Given the description of an element on the screen output the (x, y) to click on. 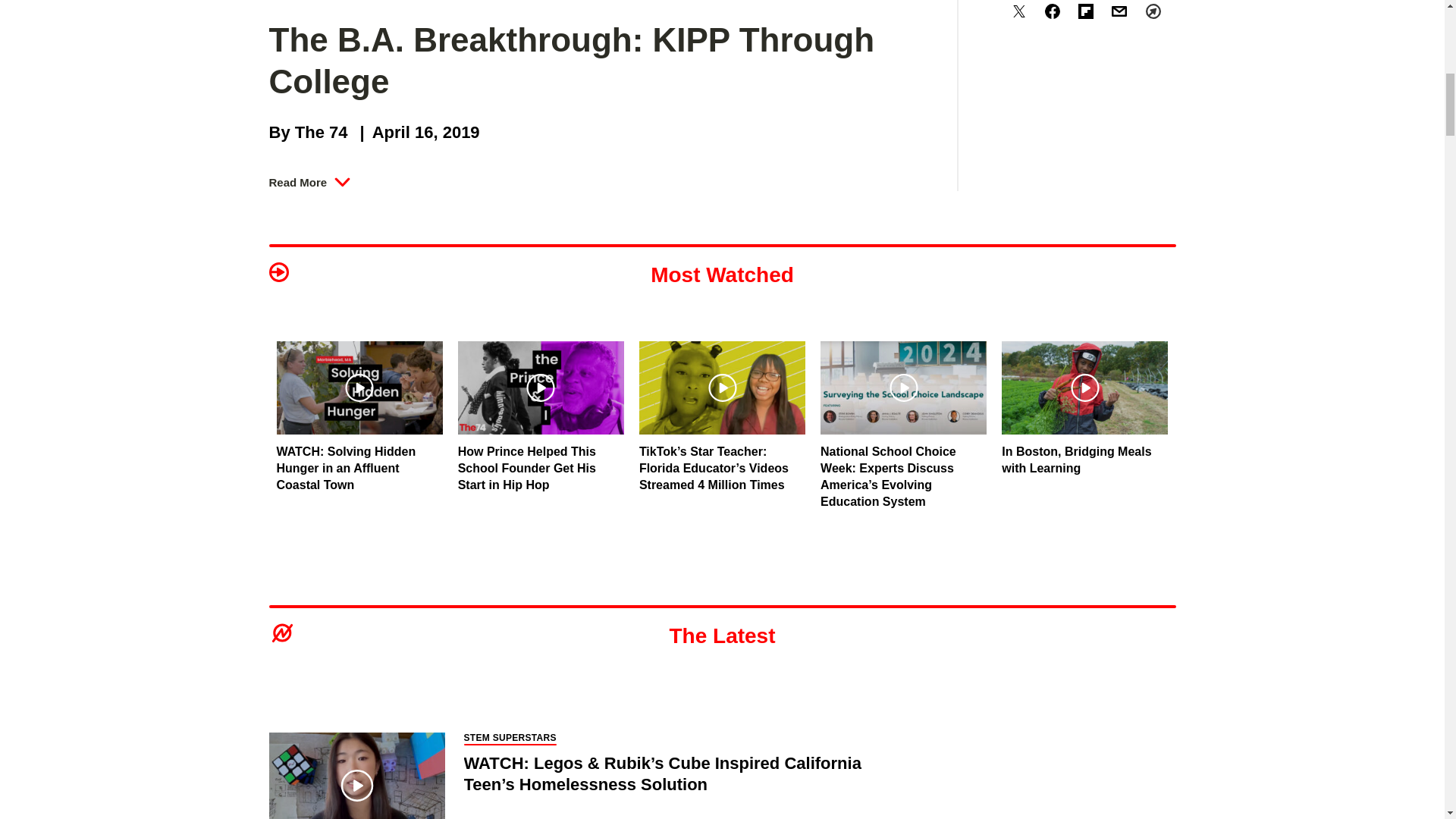
School Staffing Map (328, 429)
April 16, 2019 (416, 131)
Surveillance (781, 283)
The Big Picture (490, 338)
4Fams (490, 439)
Future of High School (490, 283)
News (328, 254)
The 74 Interview (490, 366)
Ed Tech (781, 311)
Keeping It 100 (490, 468)
Politics (781, 338)
Opinion (328, 283)
Investigation (650, 283)
Youth Mental Health (781, 395)
Research (650, 254)
